Given the description of an element on the screen output the (x, y) to click on. 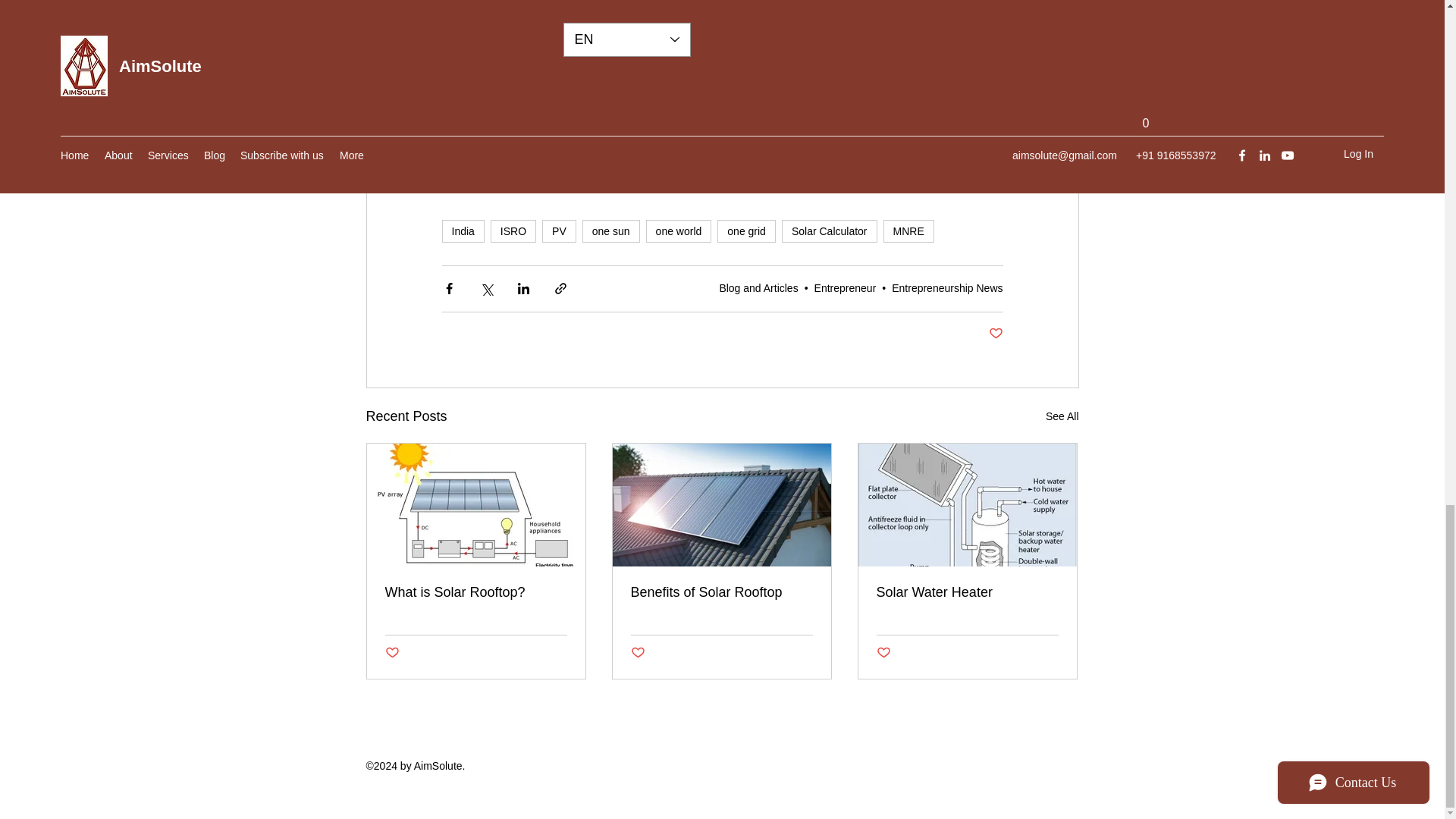
one grid (746, 231)
MNRE (908, 231)
Solar Calculator (829, 231)
India (462, 231)
one world (678, 231)
ISRO (512, 231)
PV (558, 231)
one sun (611, 231)
vedas.sac.gov.in (948, 112)
